Given the description of an element on the screen output the (x, y) to click on. 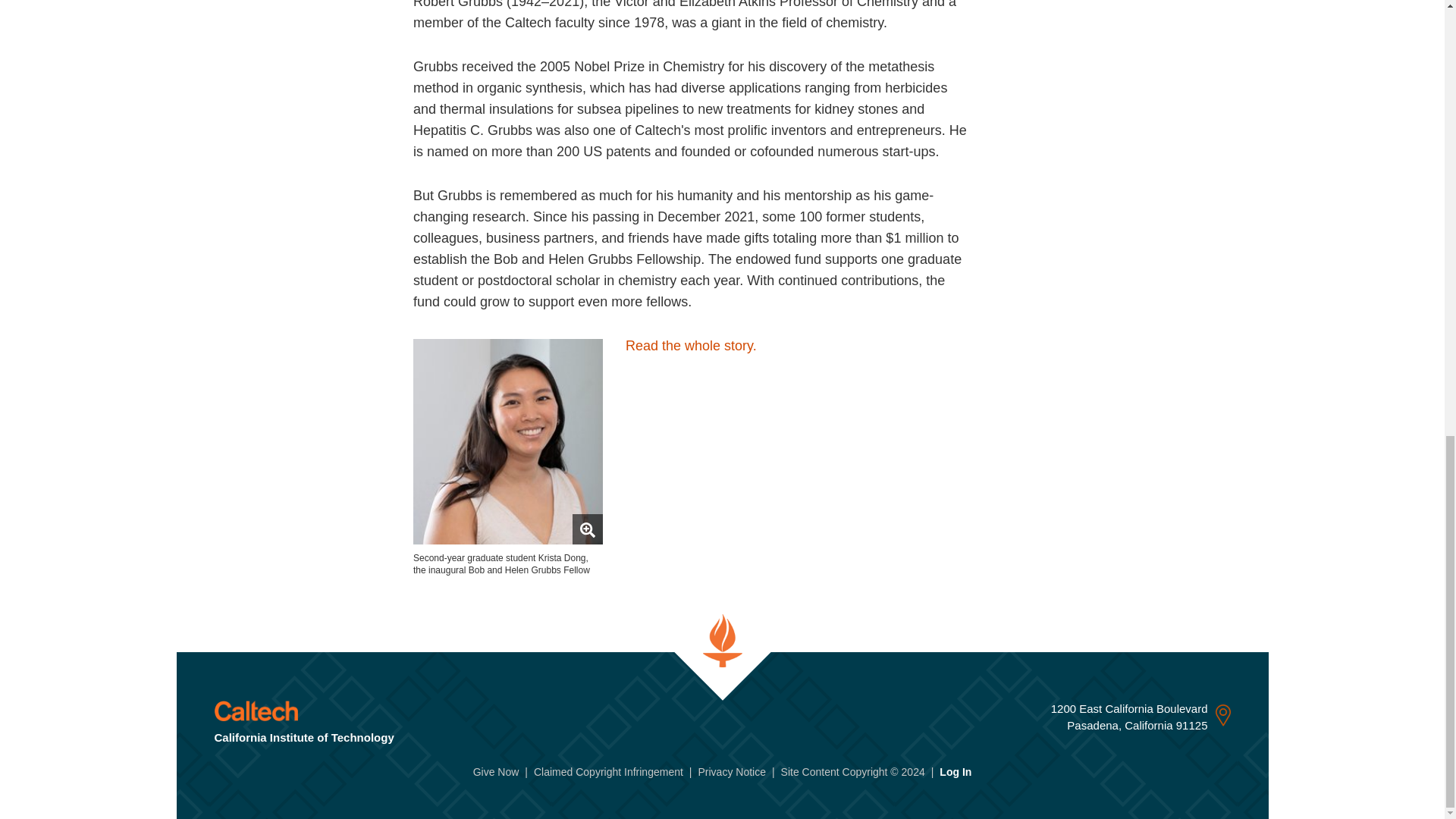
Zoom In to Image (587, 529)
